Given the description of an element on the screen output the (x, y) to click on. 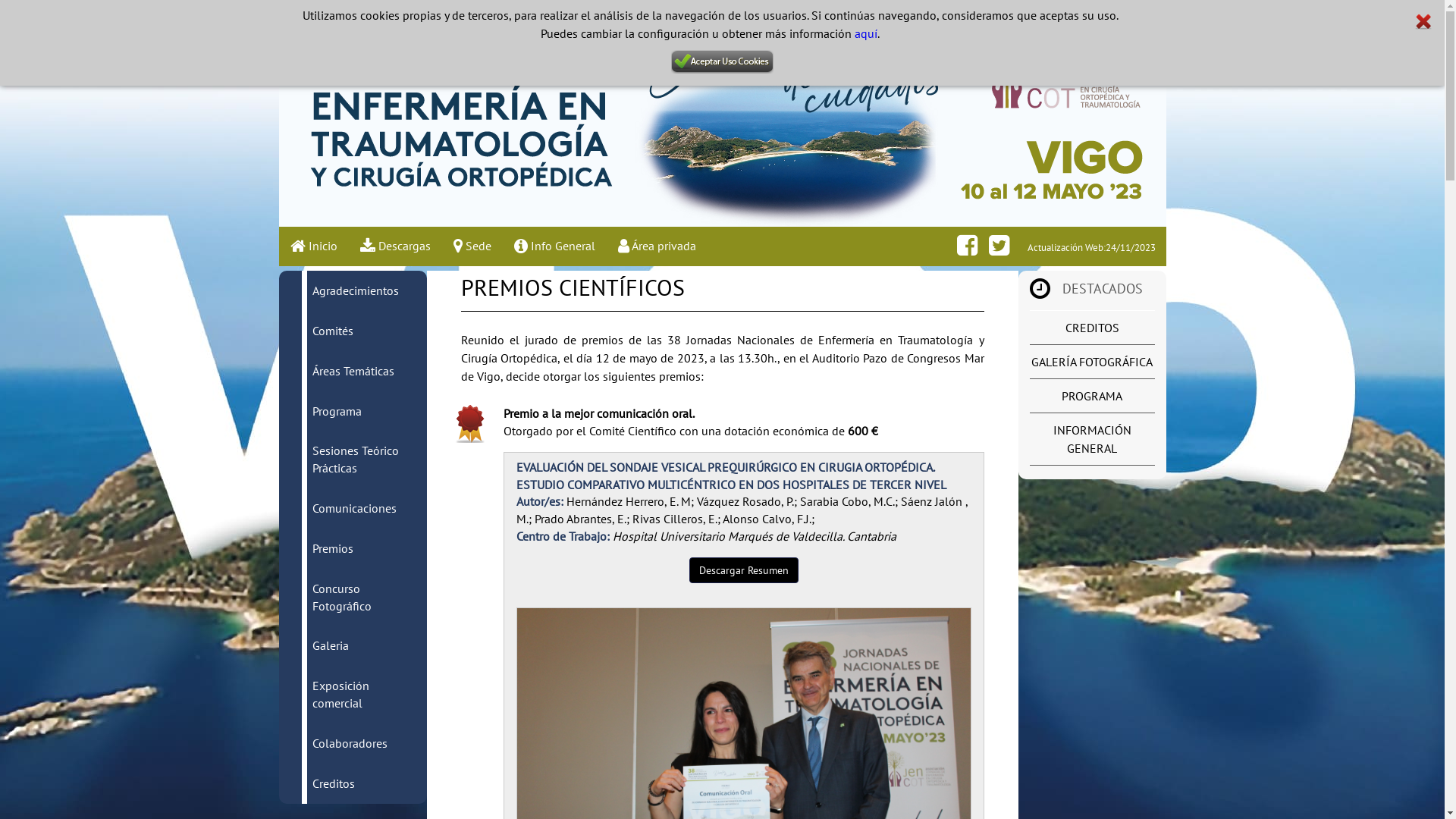
Sede Element type: text (471, 245)
Creditos Element type: text (333, 782)
Inicio Element type: text (313, 245)
Programa Element type: text (336, 410)
Agradecimientos Element type: text (355, 290)
Cerrar Element type: hover (1423, 21)
Descargas Element type: text (395, 245)
CREDITOS Element type: text (1091, 327)
Aceptar uso de cookies Element type: hover (722, 61)
Premios Element type: text (332, 547)
Info General Element type: text (553, 245)
Comunicaciones Element type: text (354, 507)
Descargar Resumen Element type: text (742, 570)
Galeria Element type: text (330, 644)
PROGRAMA Element type: text (1091, 395)
Colaboradores Element type: text (349, 742)
